Given the description of an element on the screen output the (x, y) to click on. 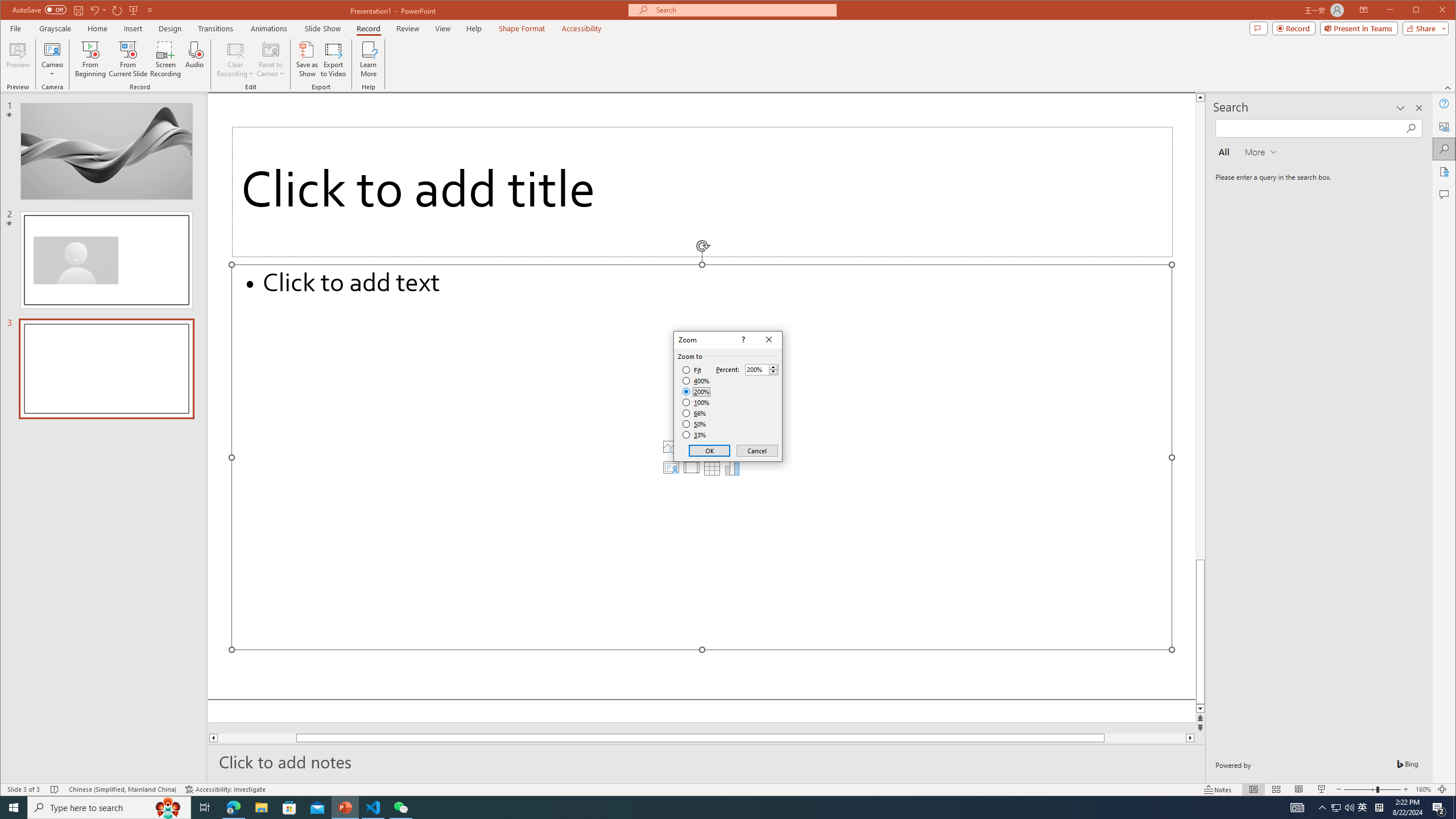
Percent (761, 369)
